Given the description of an element on the screen output the (x, y) to click on. 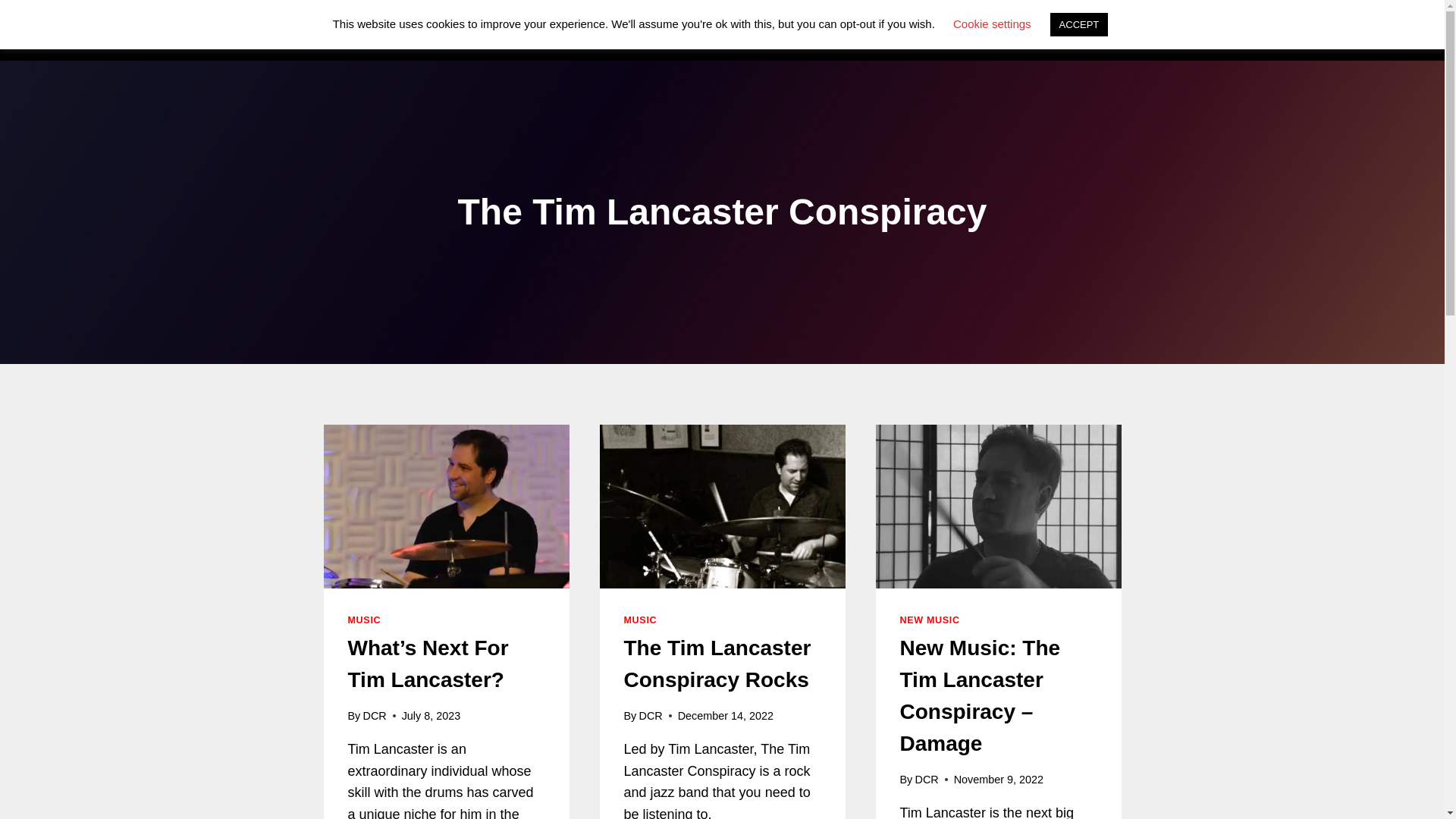
The Tim Lancaster Conspiracy Rocks (716, 663)
DCR (373, 715)
Pricing (803, 30)
Services (659, 30)
DCR (925, 779)
About (938, 30)
MUSIC (639, 620)
DCR (650, 715)
MUSIC (363, 620)
NEW MUSIC (929, 620)
